Given the description of an element on the screen output the (x, y) to click on. 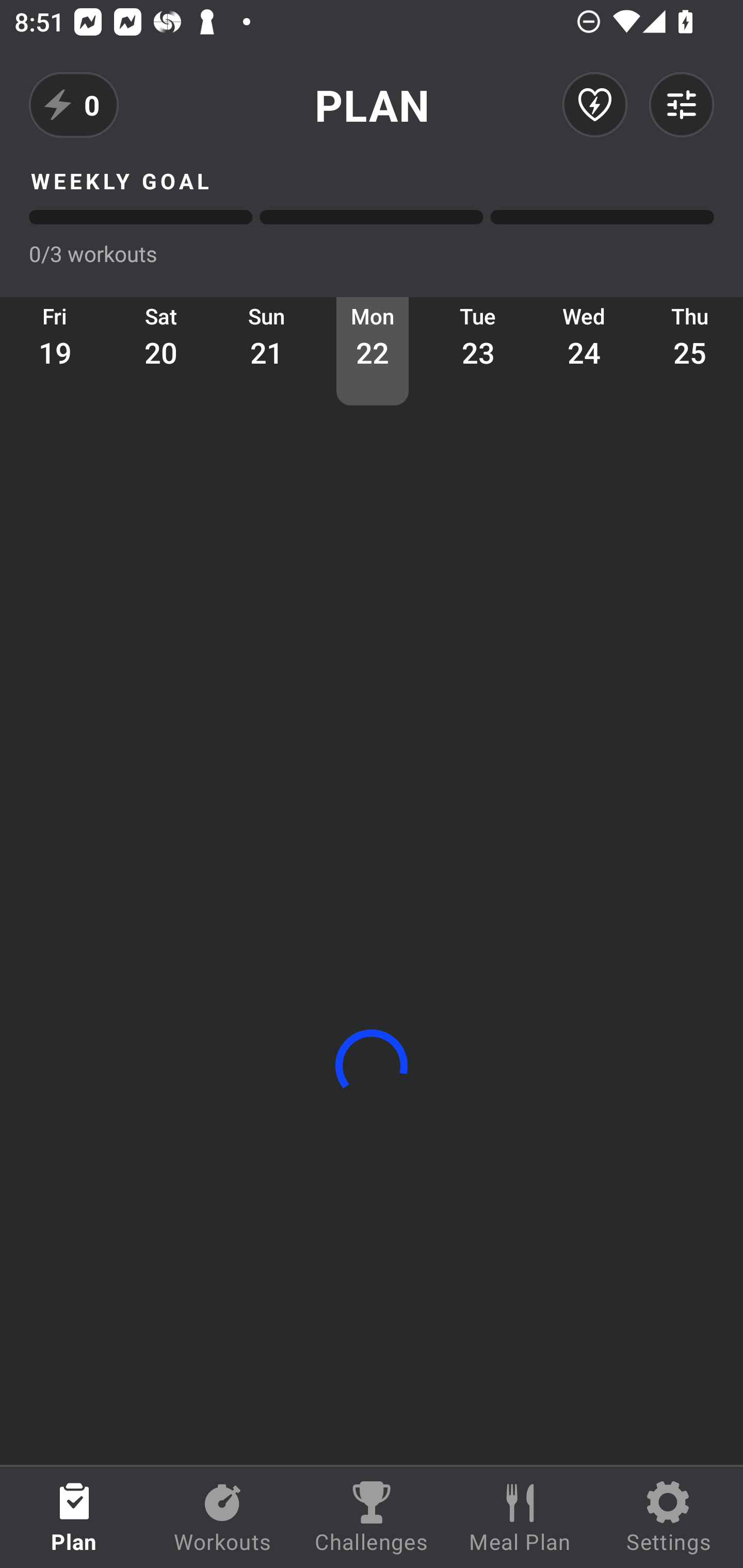
0 (73, 104)
Fri 19 (55, 351)
Sat 20 (160, 351)
Sun 21 (266, 351)
Mon 22 (372, 351)
Tue 23 (478, 351)
Wed 24 (584, 351)
Thu 25 (690, 351)
 Workouts  (222, 1517)
 Challenges  (371, 1517)
 Meal Plan  (519, 1517)
 Settings  (668, 1517)
